Given the description of an element on the screen output the (x, y) to click on. 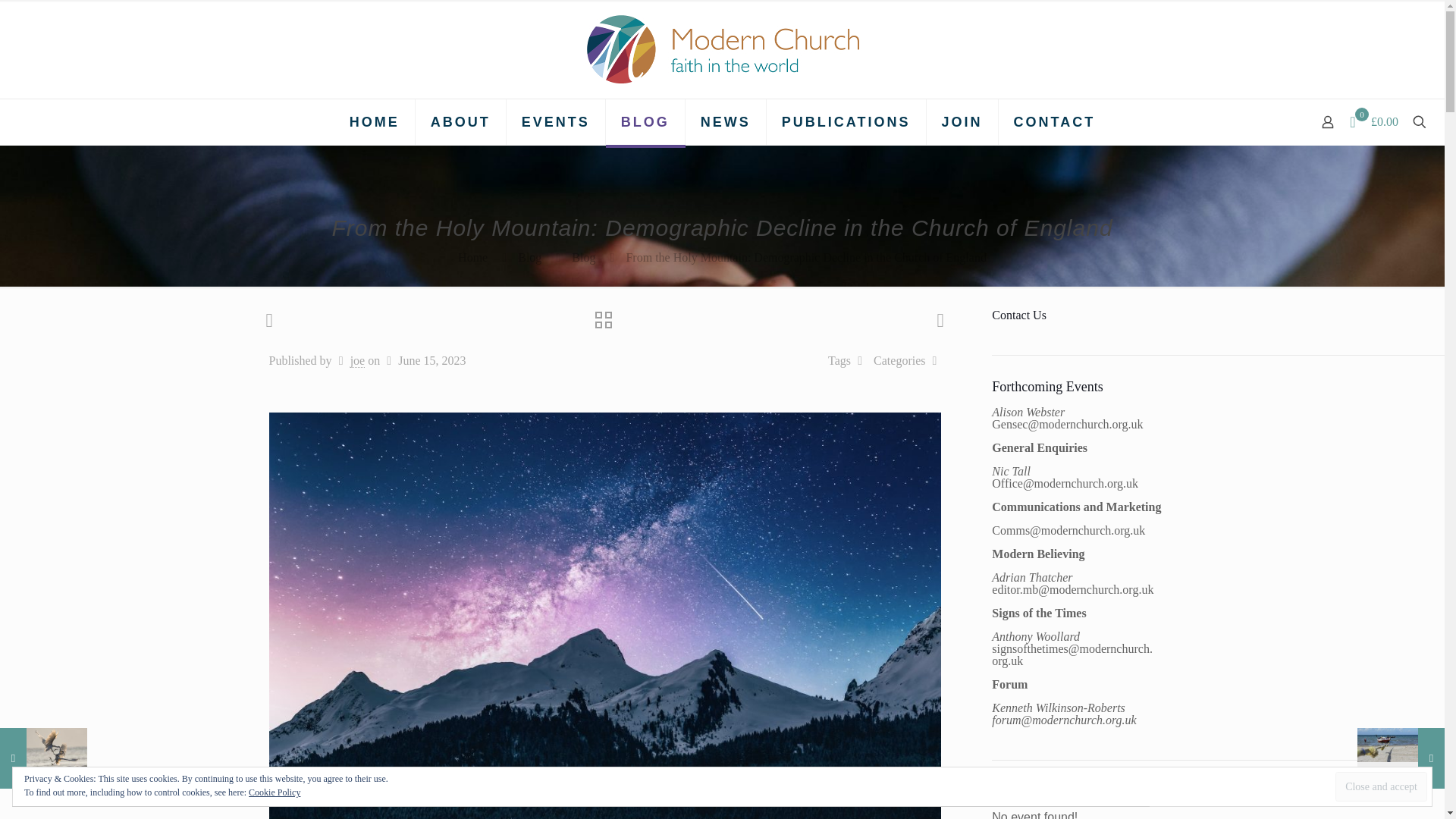
Blog (529, 256)
Blog (583, 256)
joe (357, 360)
JOIN (962, 121)
Modern Church (721, 49)
CONTACT (1054, 121)
Home (472, 256)
Close and accept (1380, 786)
PUBLICATIONS (846, 121)
BLOG (645, 121)
